Given the description of an element on the screen output the (x, y) to click on. 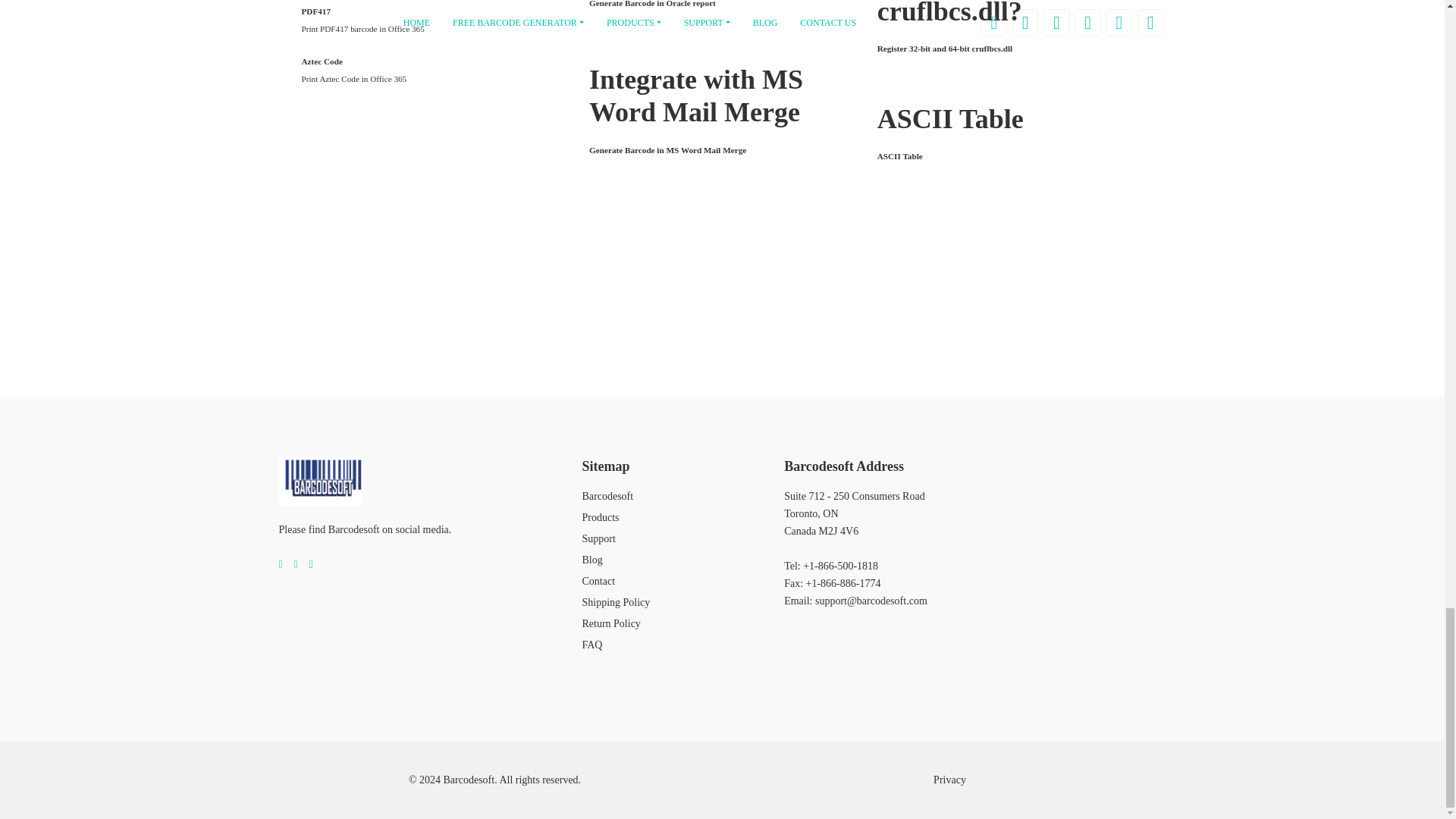
Barcodesoft (320, 481)
